Given the description of an element on the screen output the (x, y) to click on. 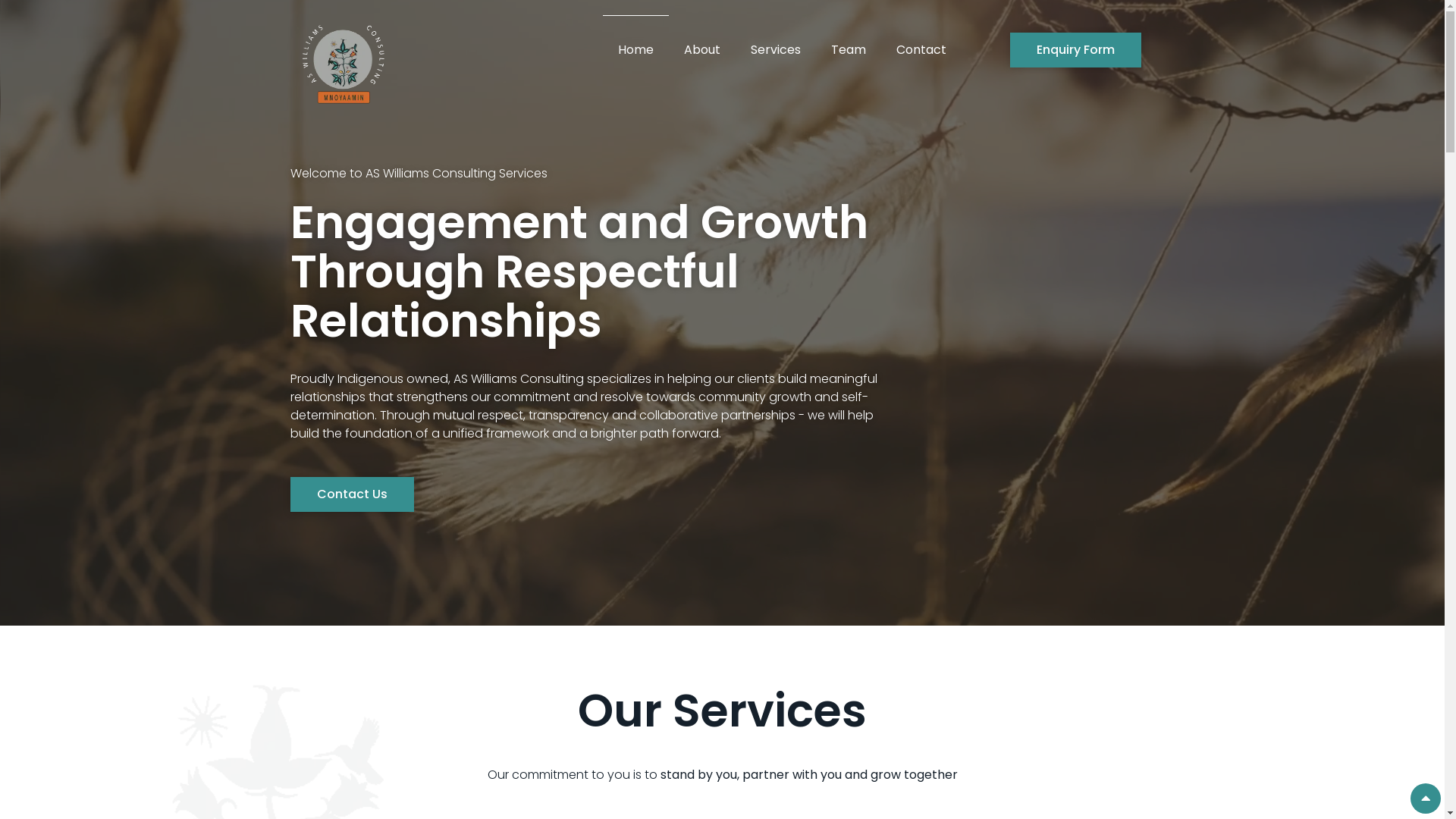
About Element type: text (701, 49)
Home Element type: text (635, 49)
Contact Us Element type: text (351, 493)
Contact Element type: text (921, 49)
Services Element type: text (775, 49)
Enquiry Form Element type: text (1075, 49)
Team Element type: text (848, 49)
